Given the description of an element on the screen output the (x, y) to click on. 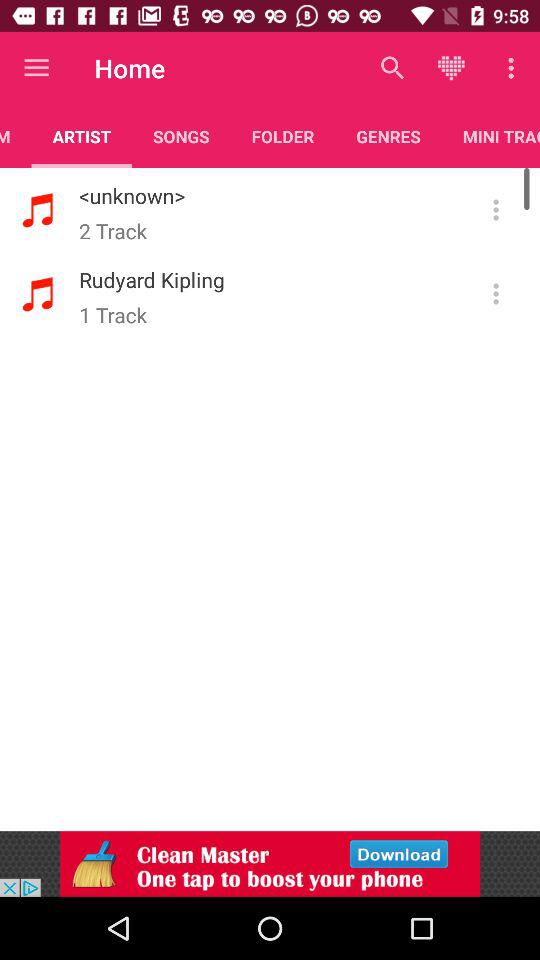
adventisment page (270, 864)
